Given the description of an element on the screen output the (x, y) to click on. 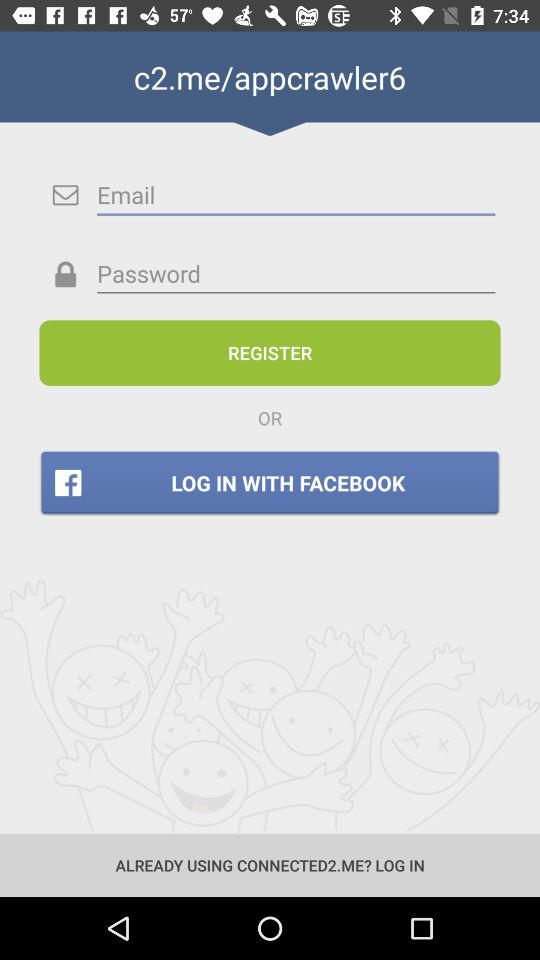
flip until the already using connected2 (270, 864)
